Given the description of an element on the screen output the (x, y) to click on. 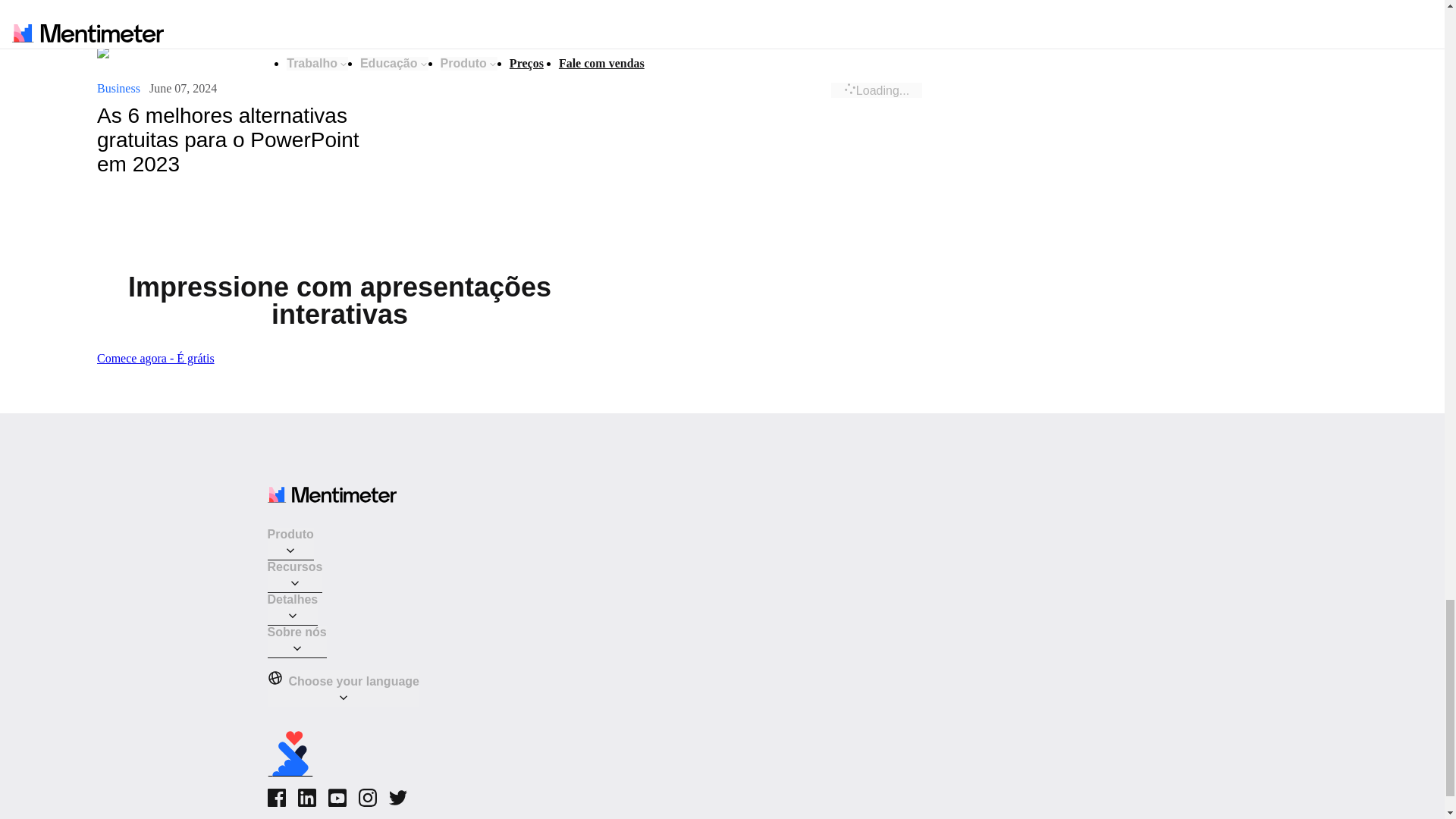
Recursos (293, 576)
Produto (289, 543)
Choose your language (342, 688)
Detalhes (291, 608)
